Given the description of an element on the screen output the (x, y) to click on. 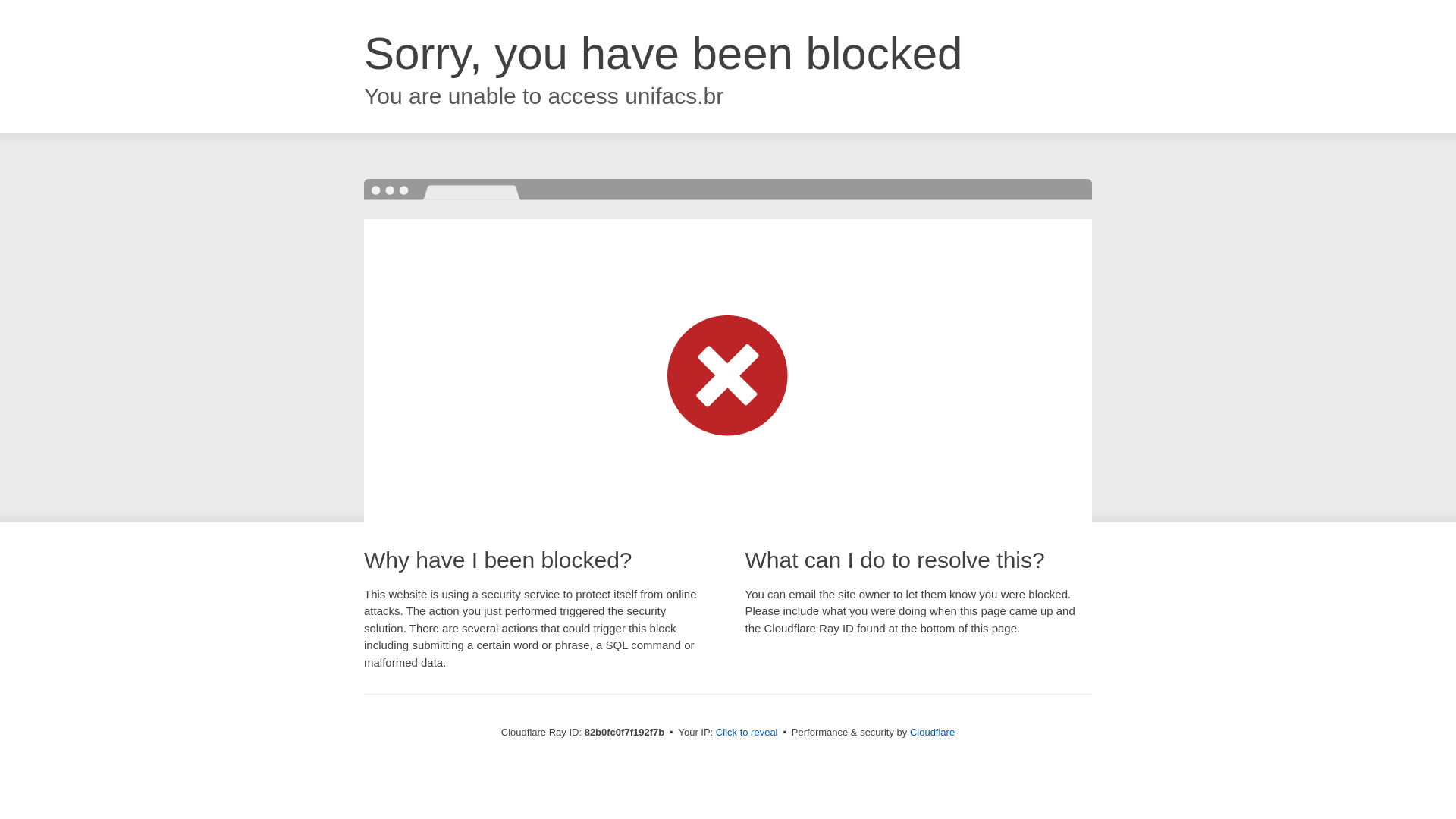
Cloudflare Element type: text (932, 731)
Click to reveal Element type: text (746, 732)
